Given the description of an element on the screen output the (x, y) to click on. 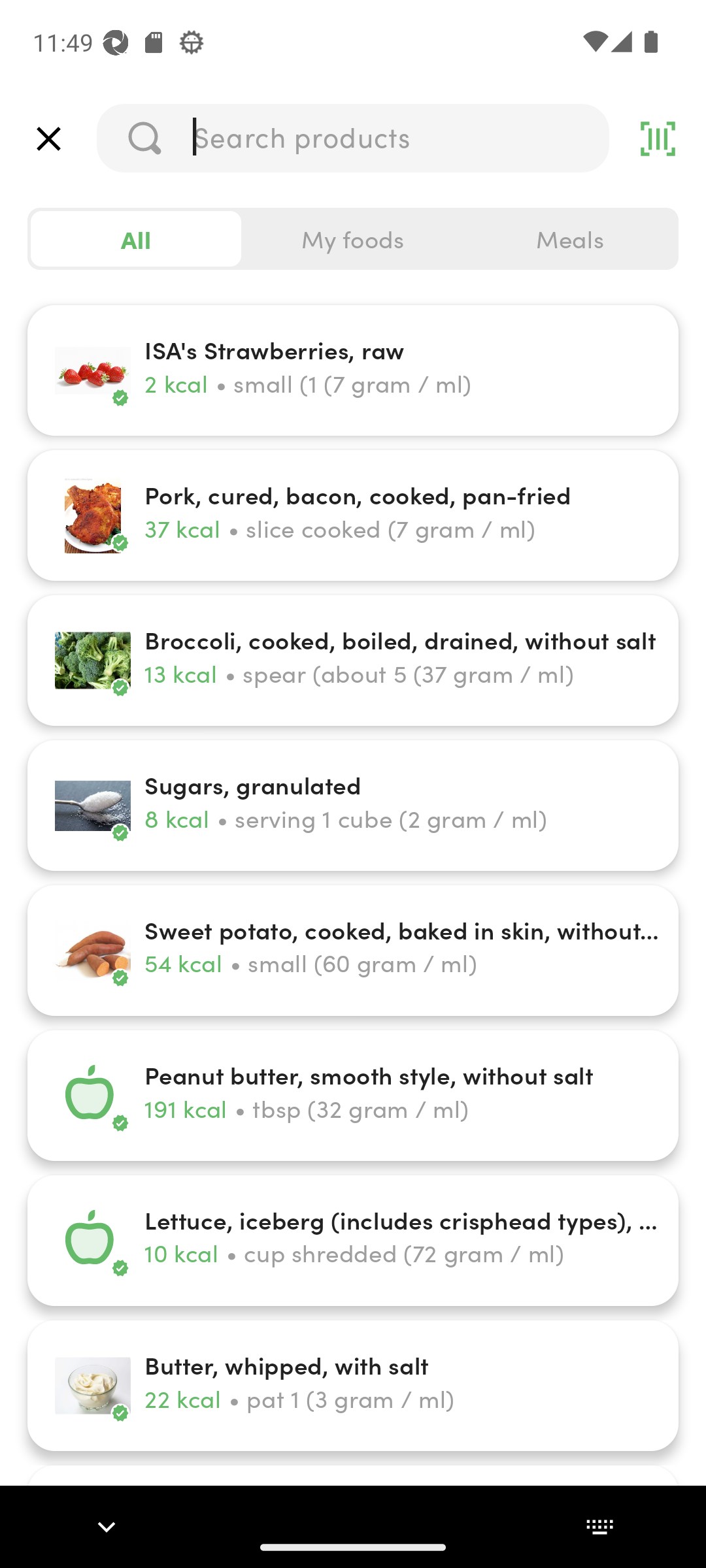
top_left_action (48, 138)
top_right_action (658, 138)
My foods (352, 238)
Meals (569, 238)
